Given the description of an element on the screen output the (x, y) to click on. 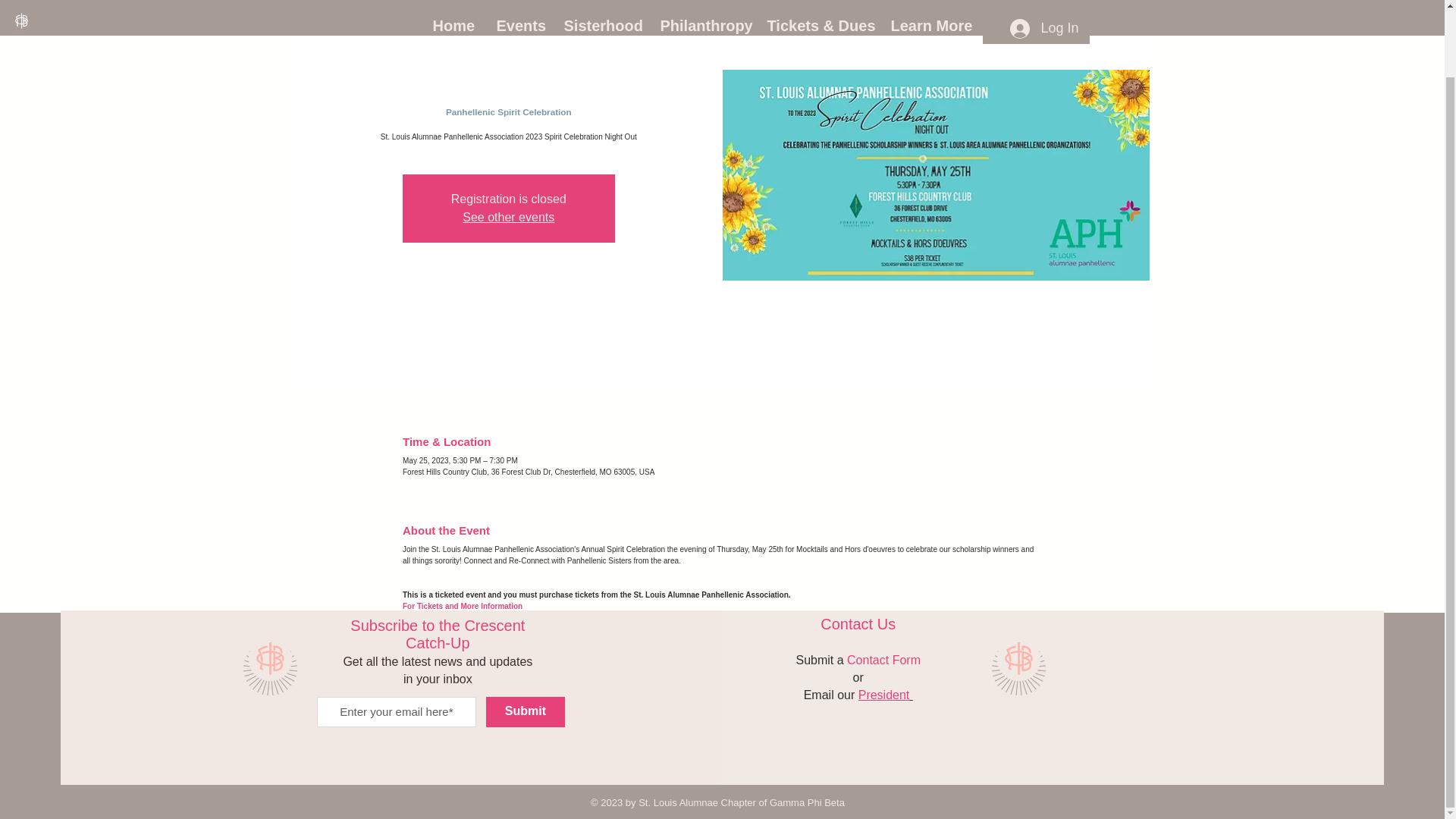
tact Form (894, 659)
President  (885, 693)
See other events (508, 216)
For Tickets and More Information (462, 605)
Submit (525, 711)
Con (858, 659)
